Given the description of an element on the screen output the (x, y) to click on. 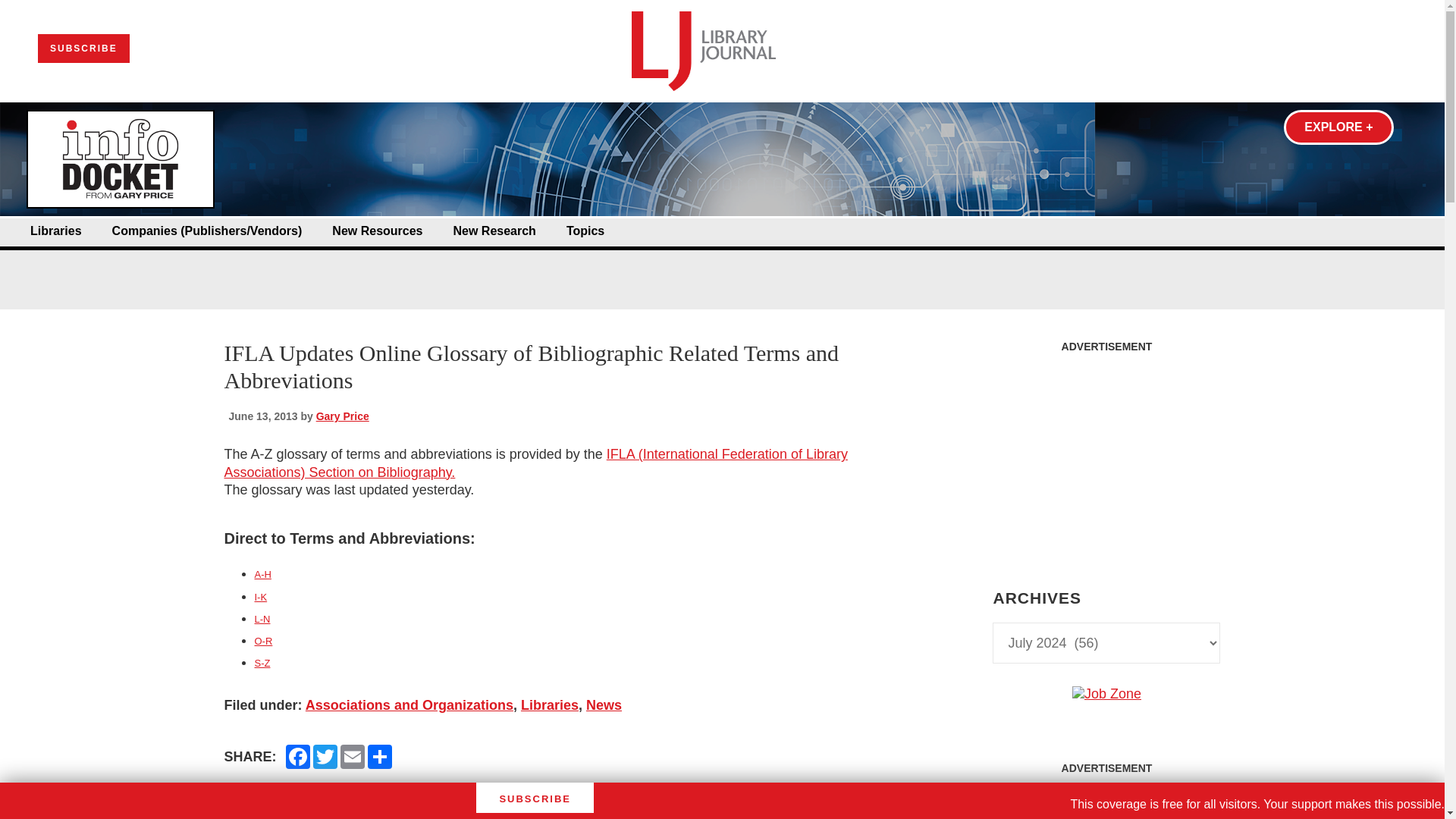
3rd party ad content (1106, 800)
3rd party ad content (1106, 455)
Libraries (55, 231)
3rd party ad content (721, 264)
SUBSCRIBE (83, 48)
New Resources (376, 231)
